Given the description of an element on the screen output the (x, y) to click on. 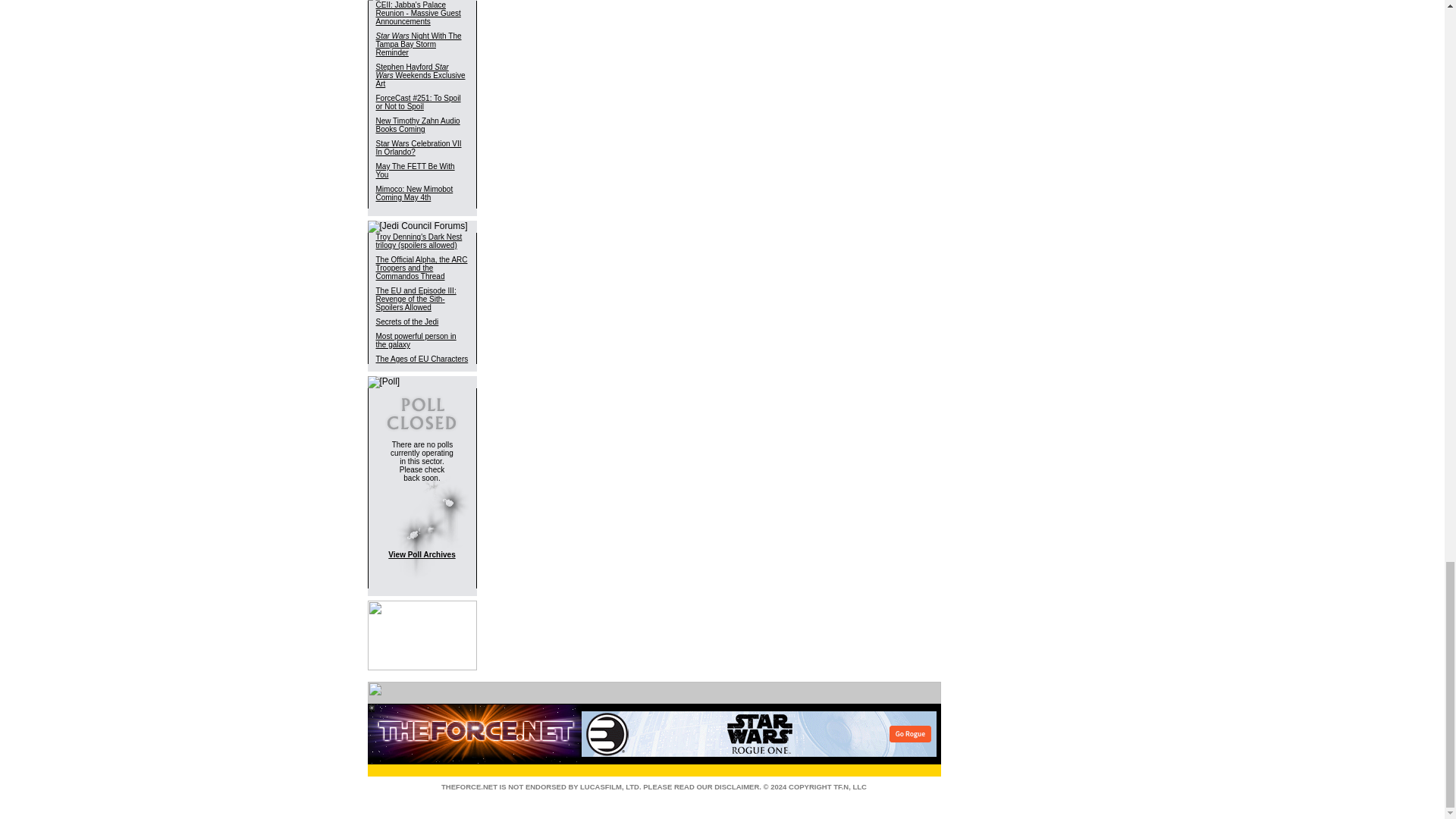
CEII: Jabba's Palace Reunion - Massive Guest Announcements (418, 12)
New Timothy Zahn Audio Books Coming (417, 125)
Most powerful person in the galaxy (416, 340)
Star Wars Celebration VII In Orlando? (418, 147)
Secrets of the Jedi (407, 321)
The Ages of EU Characters (421, 358)
Mimoco: New Mimobot Coming May 4th (413, 193)
Stephen Hayford Star Wars Weekends Exclusive Art (420, 75)
Star Wars Night With The Tampa Bay Storm Reminder (418, 43)
View Poll Archives (421, 554)
May The FETT Be With You (414, 170)
